Given the description of an element on the screen output the (x, y) to click on. 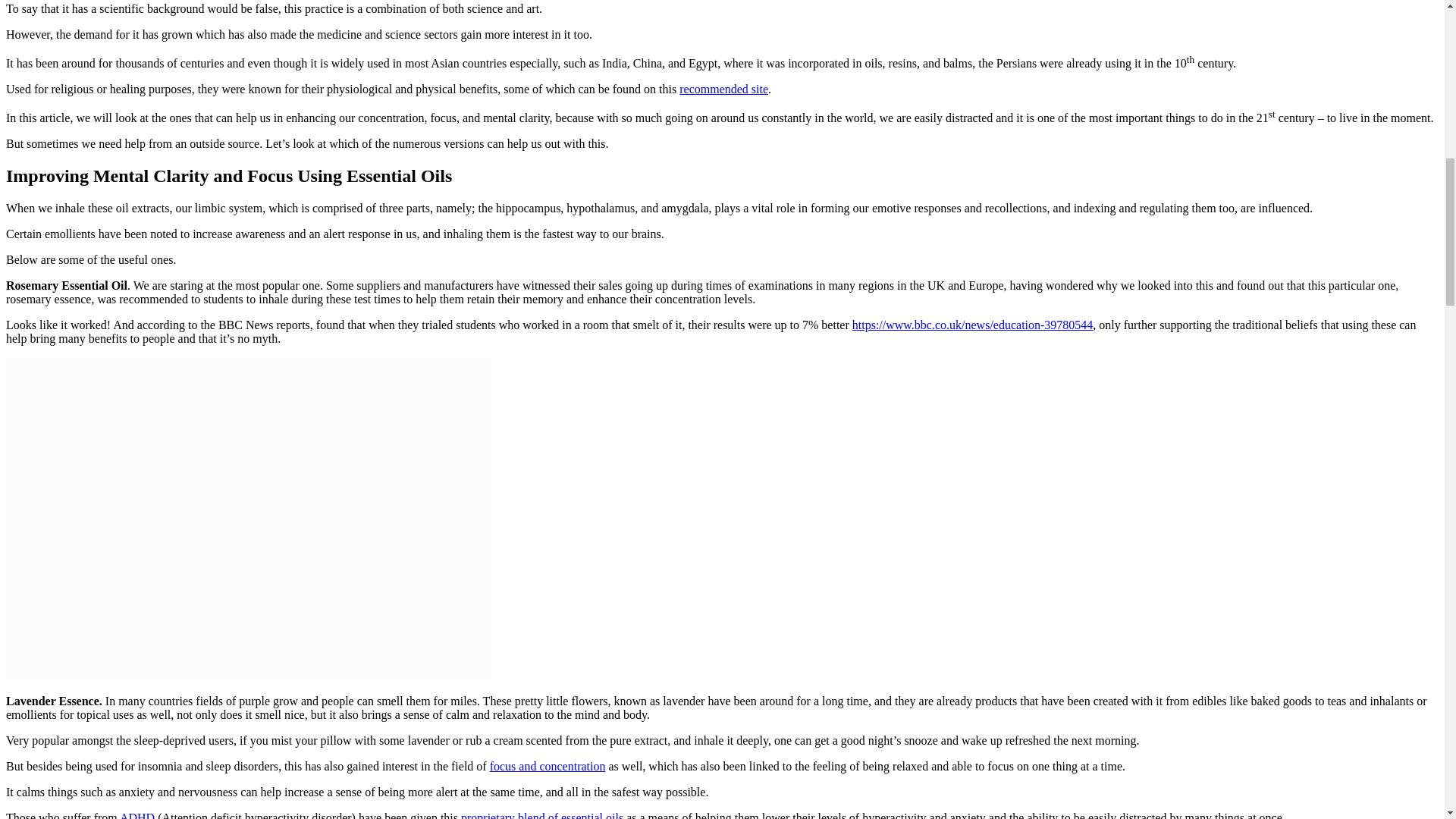
proprietary blend of essential oils (542, 815)
ADHD (136, 815)
recommended site (723, 88)
focus and concentration (547, 766)
